Given the description of an element on the screen output the (x, y) to click on. 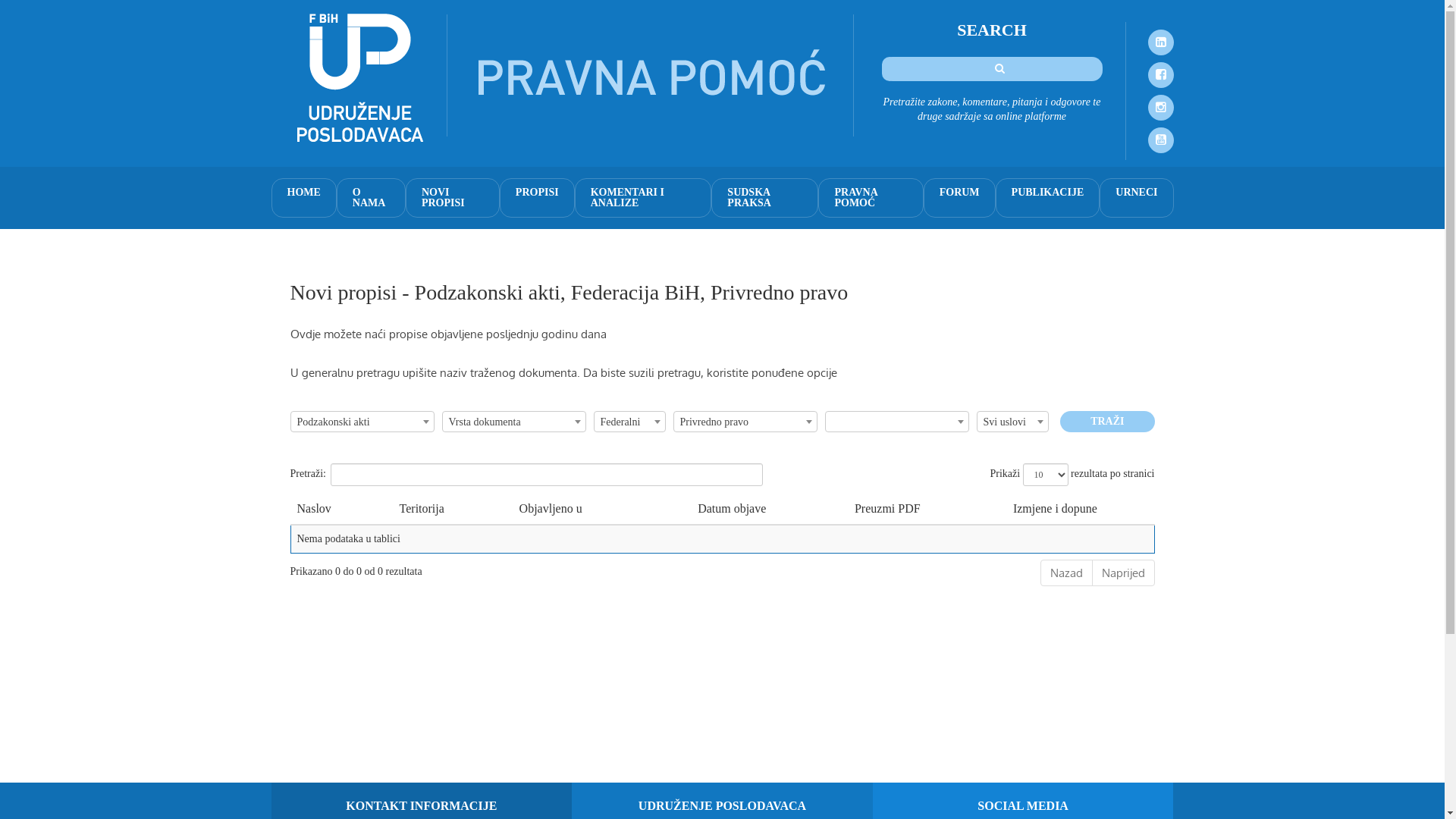
Nazad Element type: text (1066, 572)
O NAMA Element type: text (370, 197)
Naprijed Element type: text (1123, 572)
PUBLIKACIJE Element type: text (1047, 197)
FORUM Element type: text (959, 197)
HOME Element type: text (303, 197)
